Given the description of an element on the screen output the (x, y) to click on. 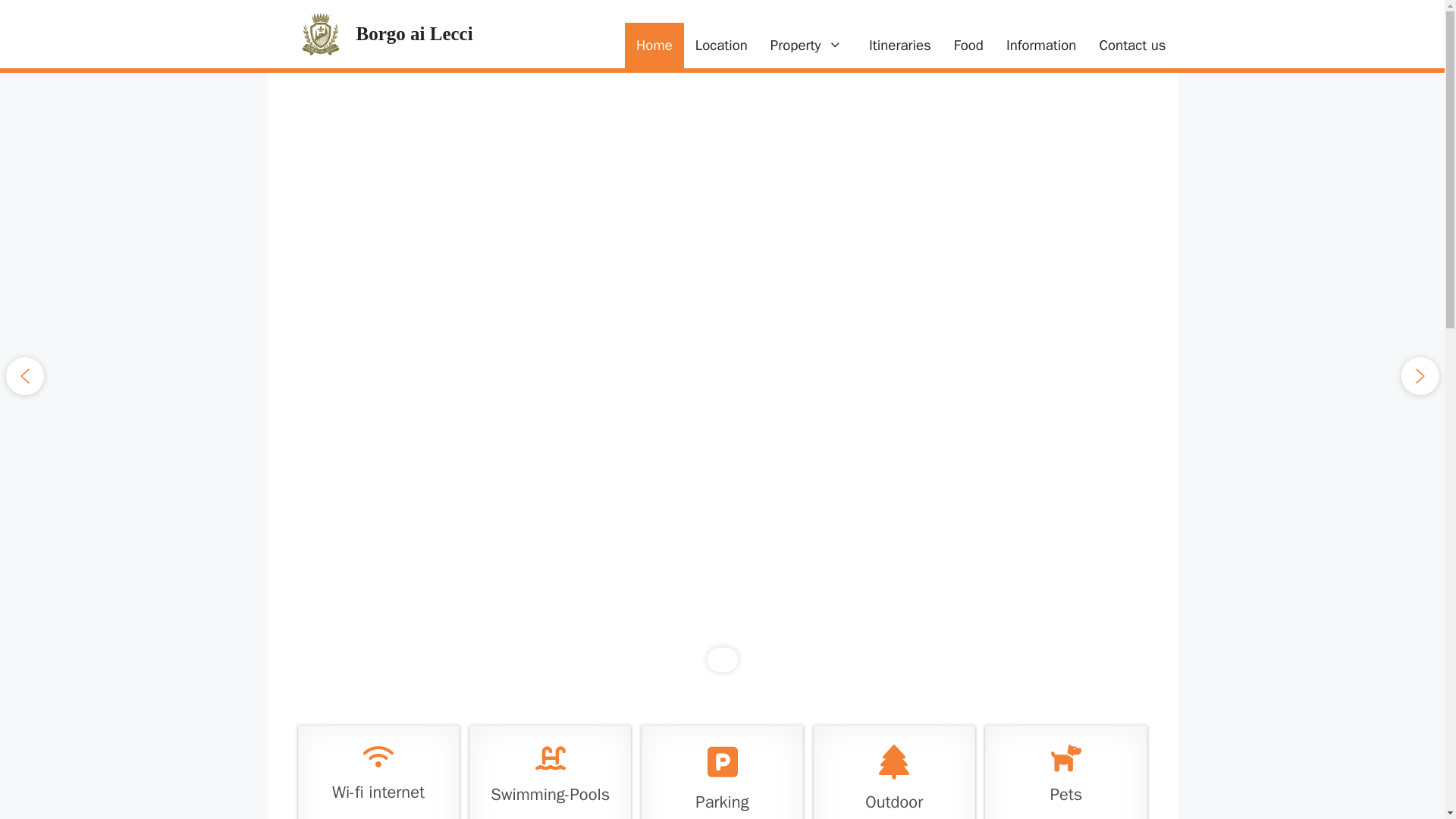
Itineraries (899, 44)
Borgo ai Lecci (414, 33)
Contact us (1131, 44)
Food (968, 44)
Property (807, 44)
Information (1040, 44)
Location (721, 44)
Home (654, 44)
